Given the description of an element on the screen output the (x, y) to click on. 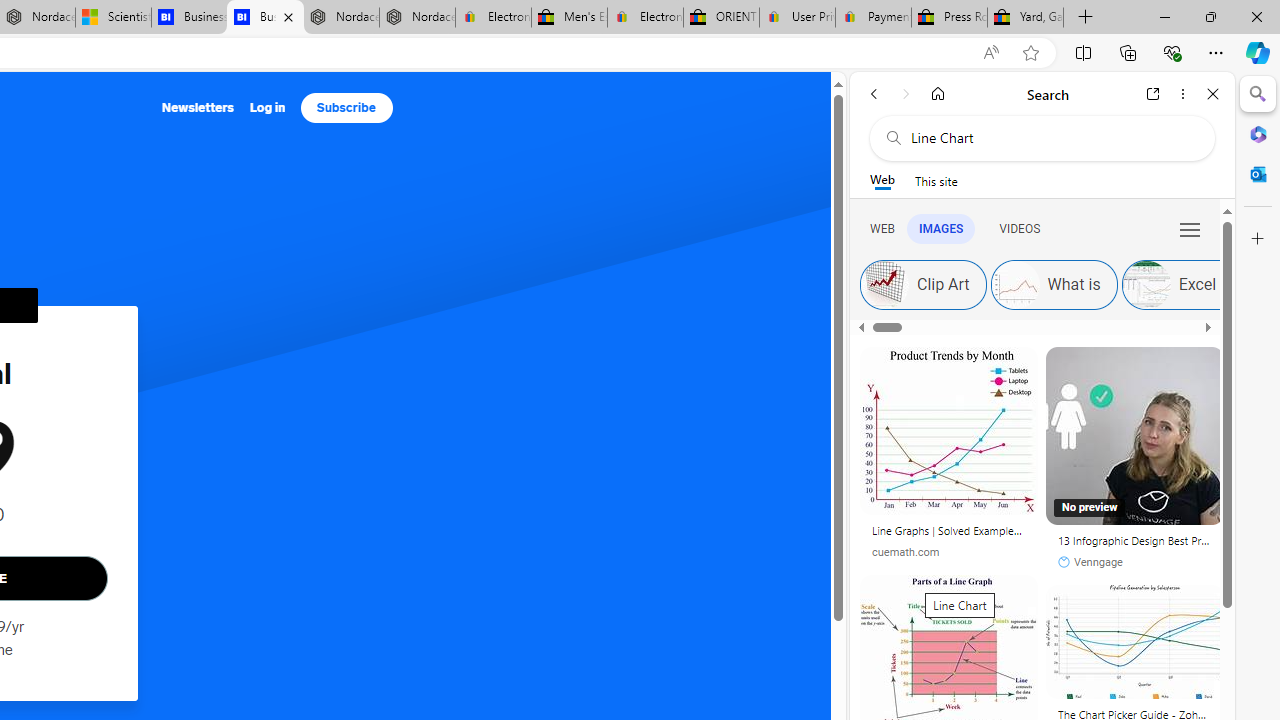
Search Filter, WEB (882, 228)
Web scope (882, 180)
User Privacy Notice | eBay (797, 17)
Line Graphs | Solved Examples | Data- Cuemath (948, 533)
Forward (906, 93)
Venngage (1135, 561)
